Given the description of an element on the screen output the (x, y) to click on. 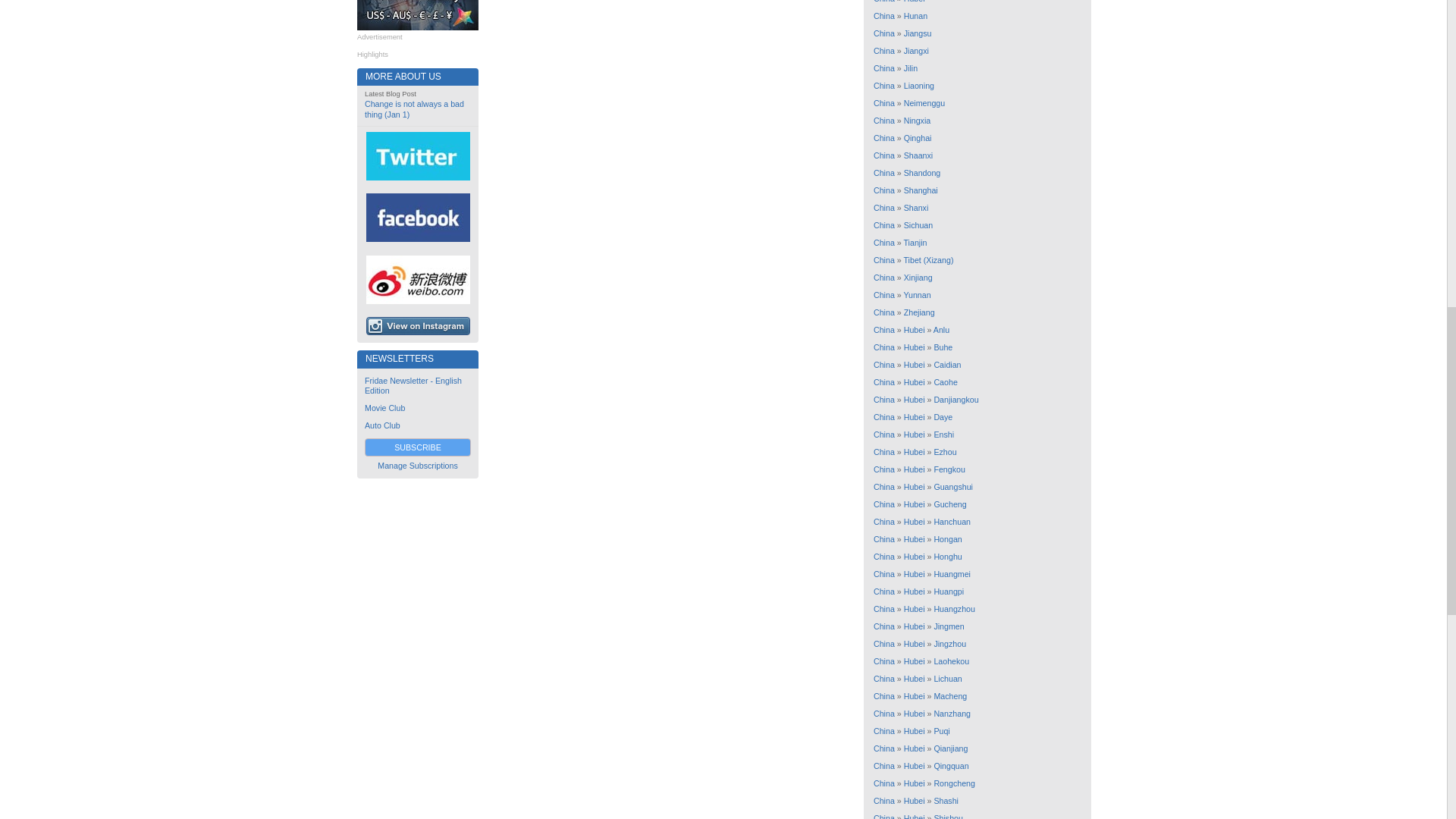
Auto Club (382, 424)
Fridae Newsletter - English Edition (413, 384)
Movie Club (384, 407)
